Given the description of an element on the screen output the (x, y) to click on. 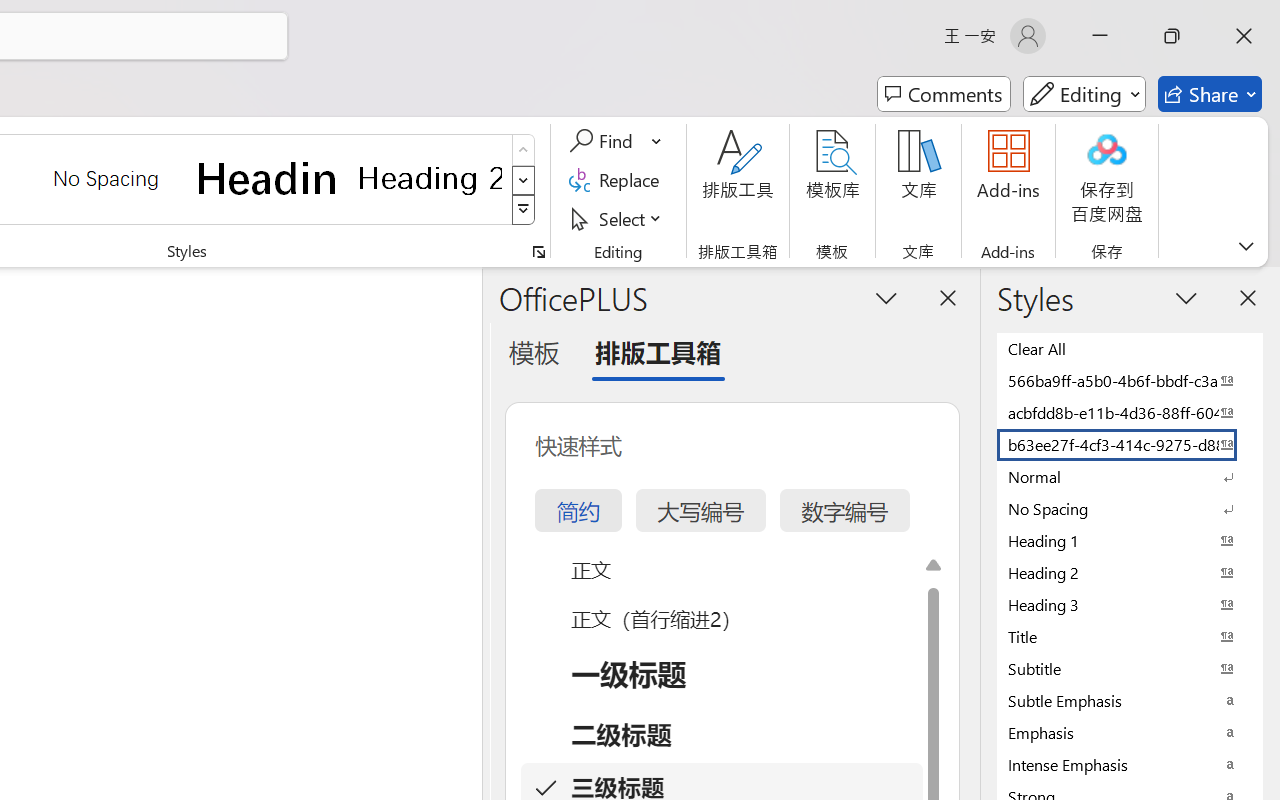
Row Down (523, 180)
Row up (523, 150)
